Given the description of an element on the screen output the (x, y) to click on. 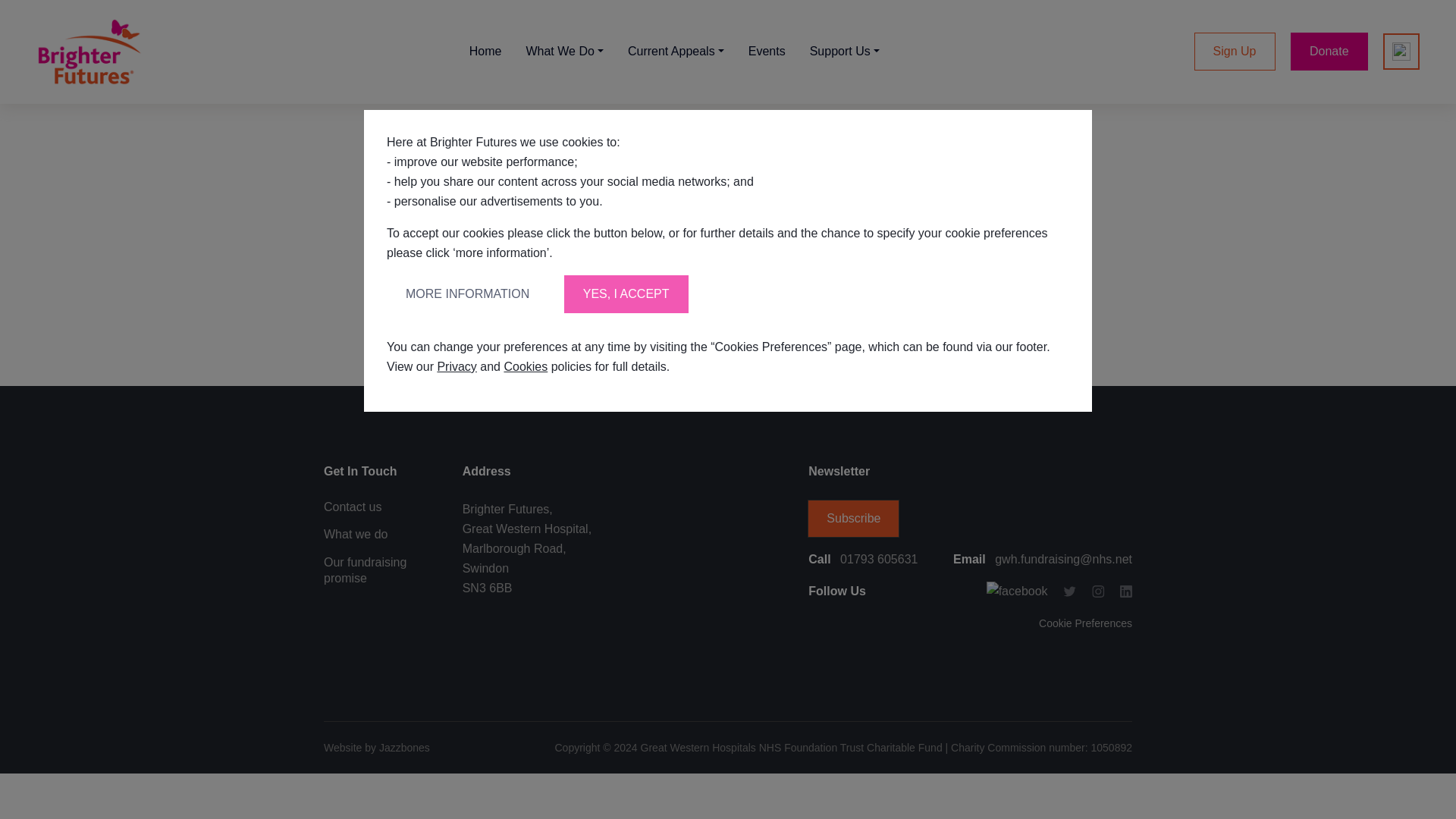
Current Appeals (675, 51)
Home (485, 51)
Support Us (844, 51)
Sign Up (1234, 51)
MORE INFORMATION (467, 293)
Donate (1329, 51)
YES, I ACCEPT (626, 293)
What We Do (563, 51)
Events (766, 51)
